Given the description of an element on the screen output the (x, y) to click on. 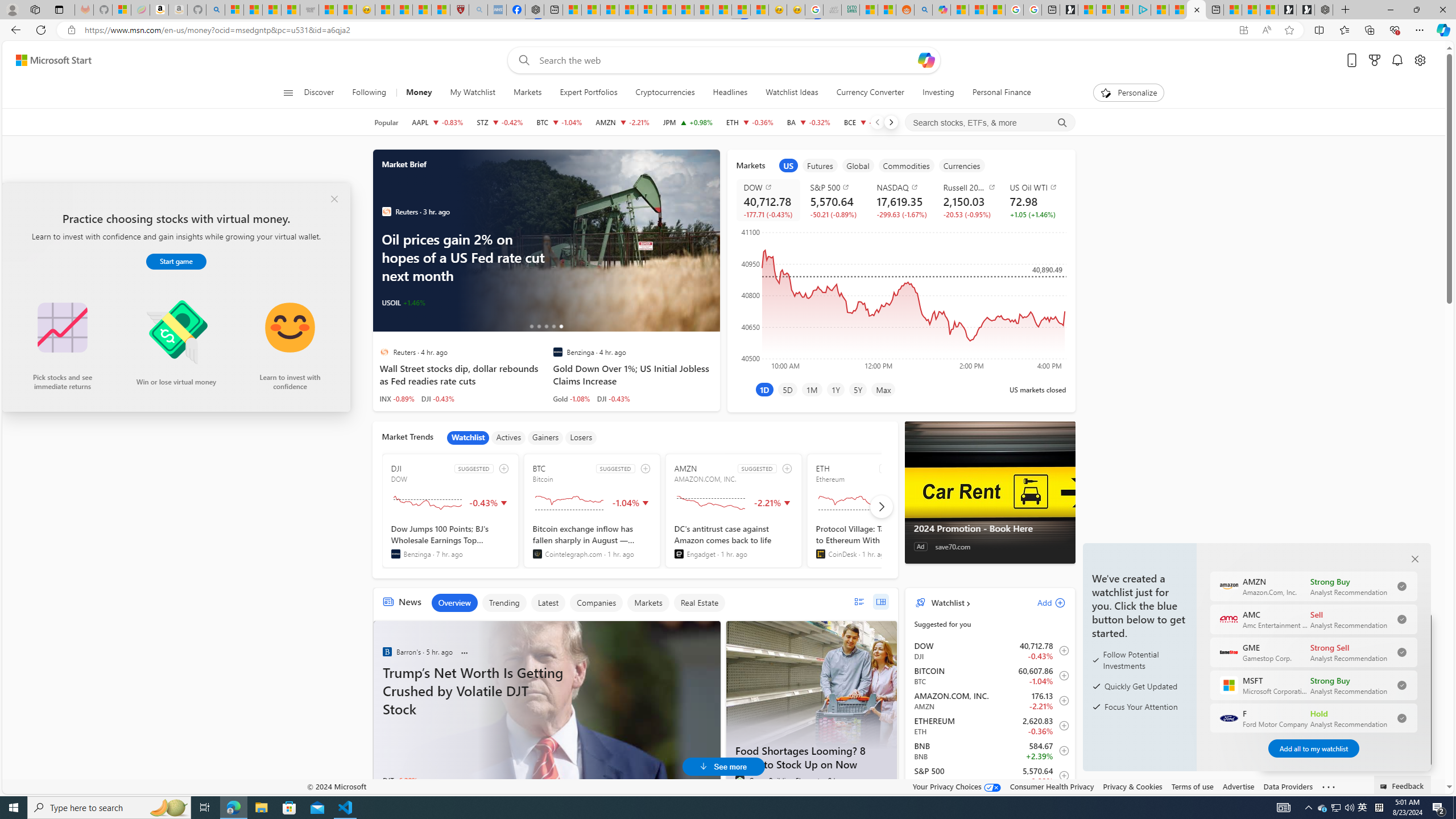
Favorites (1344, 29)
BTC SUGGESTED Bitcoin (591, 510)
Discover (323, 92)
2024 Promotion - Book Here (988, 527)
Skip to footer (46, 59)
Expert Portfolios (588, 92)
Add (1041, 602)
Microsoft rewards (1374, 60)
